Given the description of an element on the screen output the (x, y) to click on. 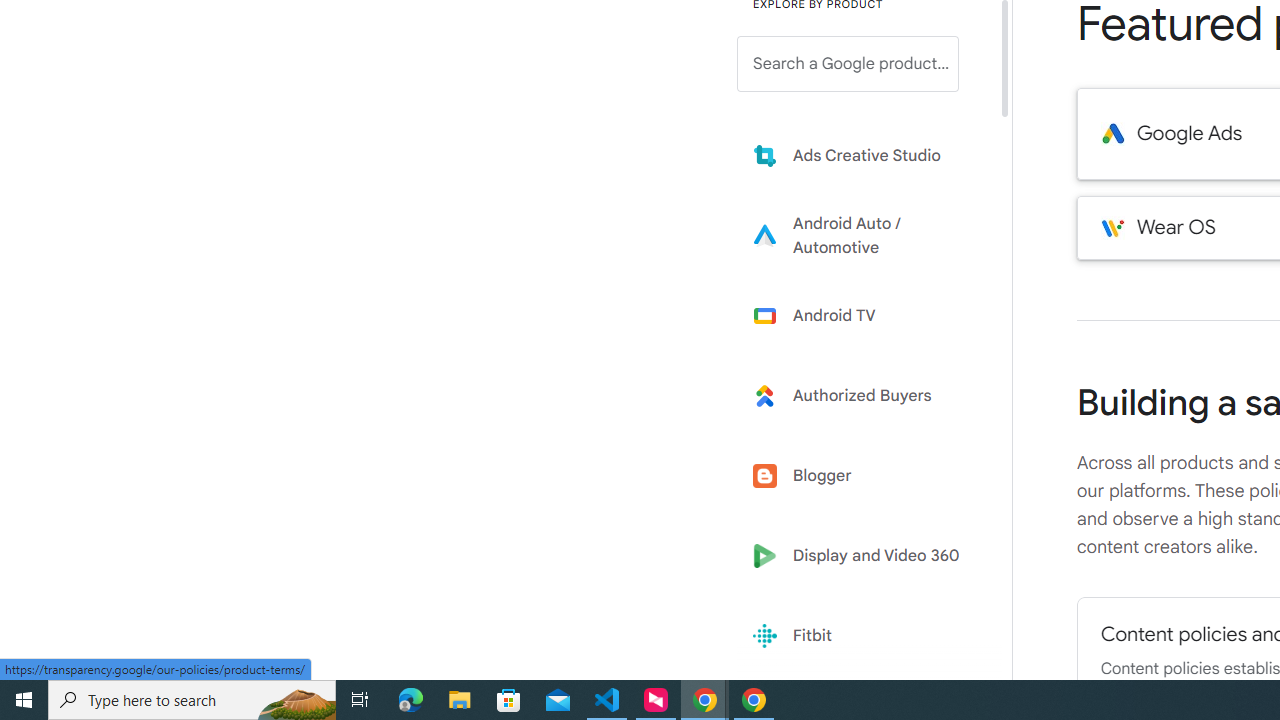
Learn more about Android Auto (862, 235)
Blogger (862, 476)
Learn more about Android TV (862, 315)
Learn more about Authorized Buyers (862, 395)
Learn more about Android TV (862, 315)
Learn more about Android Auto (862, 235)
Learn more about Ads Creative Studio (862, 155)
Fitbit (862, 636)
Display and Video 360 (862, 556)
Blogger (862, 476)
Learn more about Ads Creative Studio (862, 155)
Display and Video 360 (862, 556)
Fitbit (862, 636)
Search a Google product from below list. (847, 64)
Learn more about Authorized Buyers (862, 395)
